Given the description of an element on the screen output the (x, y) to click on. 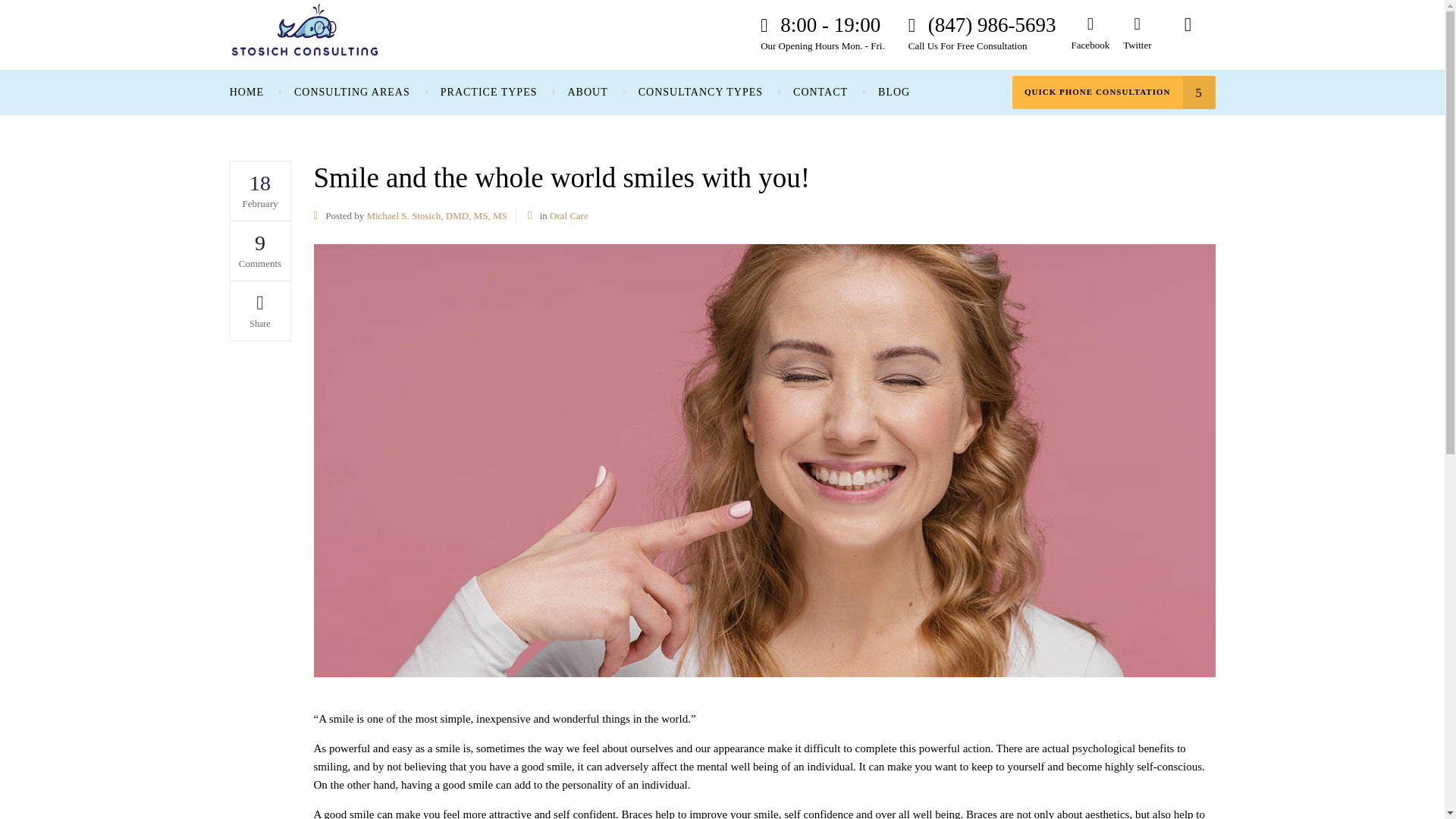
CONSULTANCY TYPES (700, 92)
HOME (254, 92)
BLOG (893, 92)
CONTACT (820, 92)
CONSULTING AREAS (352, 92)
QUICK PHONE CONSULTATION (1113, 92)
ABOUT (587, 92)
U (975, 414)
PRACTICE TYPES (489, 92)
Search (1186, 33)
